Given the description of an element on the screen output the (x, y) to click on. 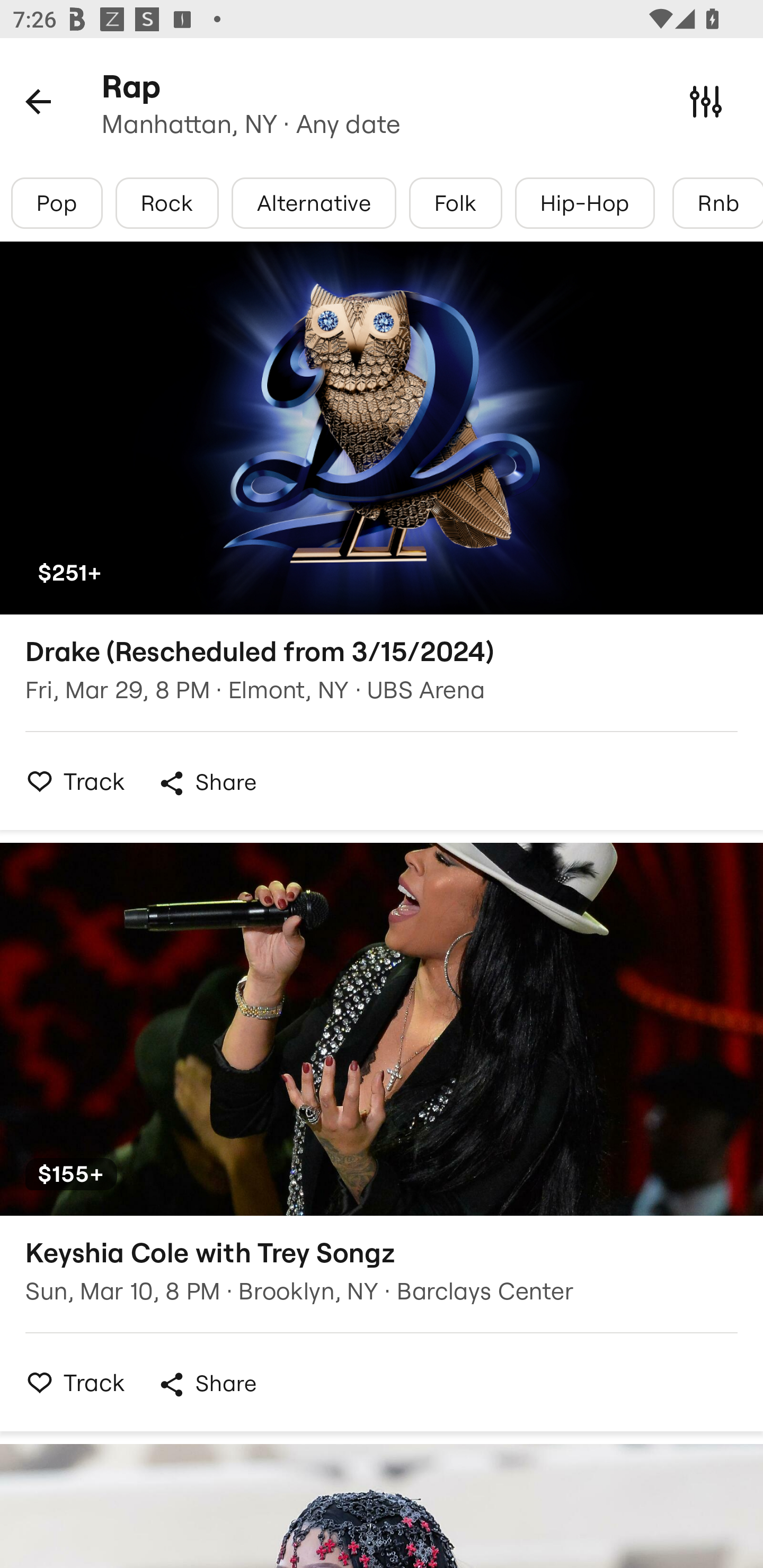
Back (38, 100)
Filters (705, 100)
Pop (57, 202)
Rock (166, 202)
Alternative (313, 202)
Folk (455, 202)
Hip-Hop (584, 202)
Rnb (717, 202)
Track (70, 780)
Share (207, 783)
Track (70, 1381)
Share (207, 1384)
